Given the description of an element on the screen output the (x, y) to click on. 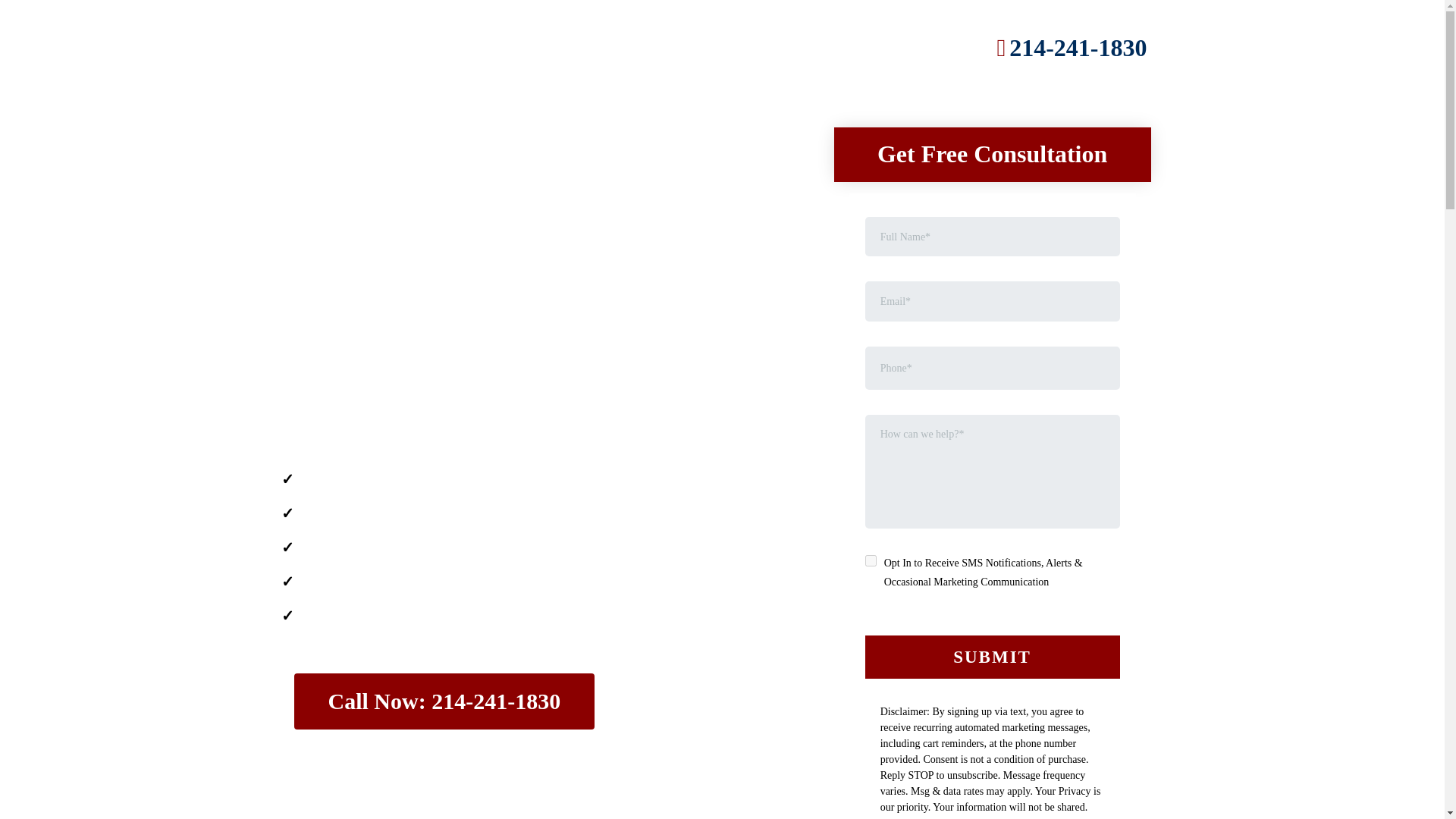
214-241-1830 (1065, 47)
Call Now: 214-241-1830 (444, 701)
SUBMIT (991, 656)
